Given the description of an element on the screen output the (x, y) to click on. 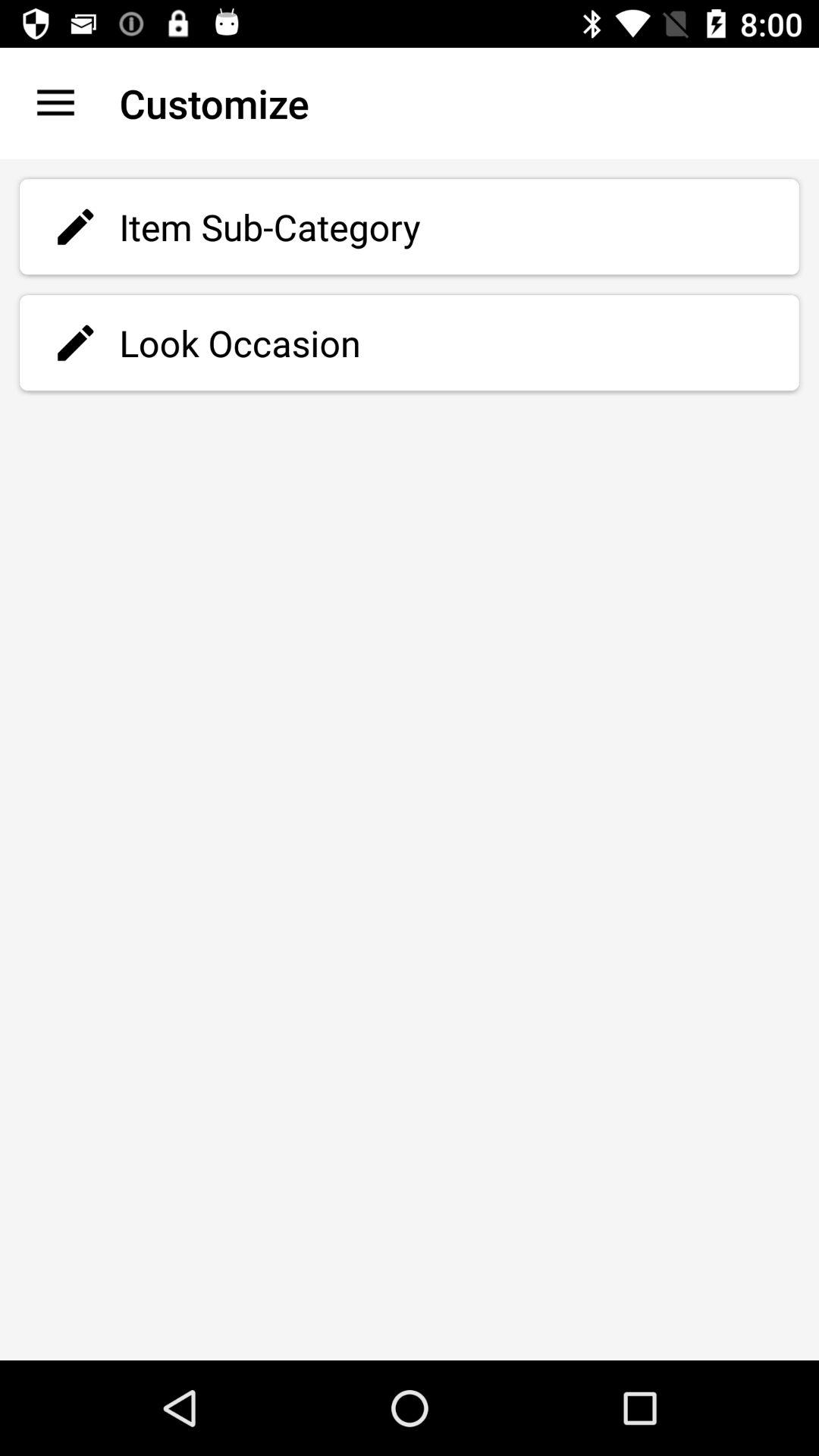
click the item below the item sub-category icon (409, 342)
